Given the description of an element on the screen output the (x, y) to click on. 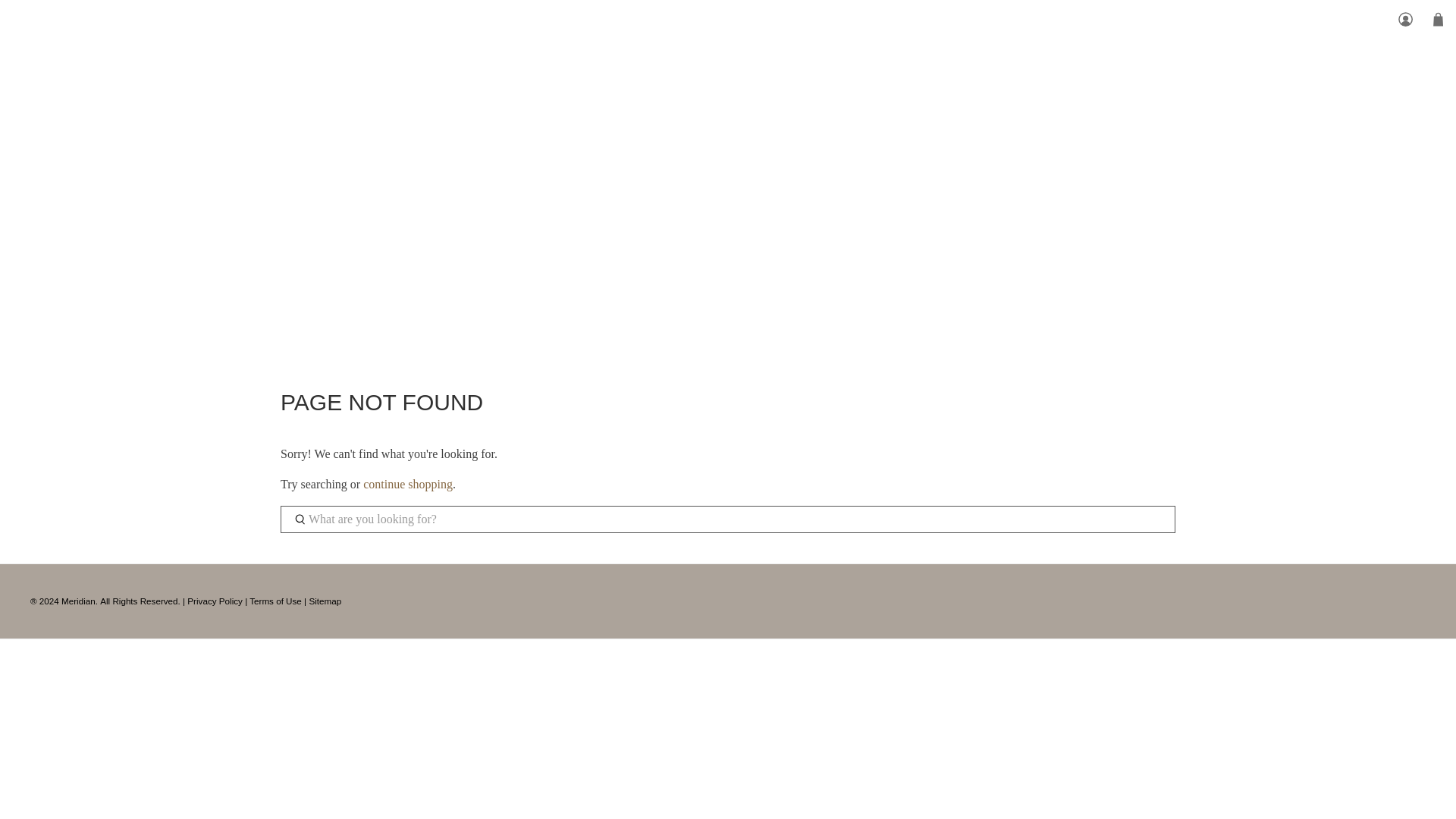
Privacy Policy (215, 601)
Sitemap (324, 601)
Privacy Policy (215, 601)
Terms of Use (274, 601)
Meridian (727, 76)
continue shopping (407, 483)
Sitemap (324, 601)
Terms of Use (274, 601)
Meridian (78, 601)
